Given the description of an element on the screen output the (x, y) to click on. 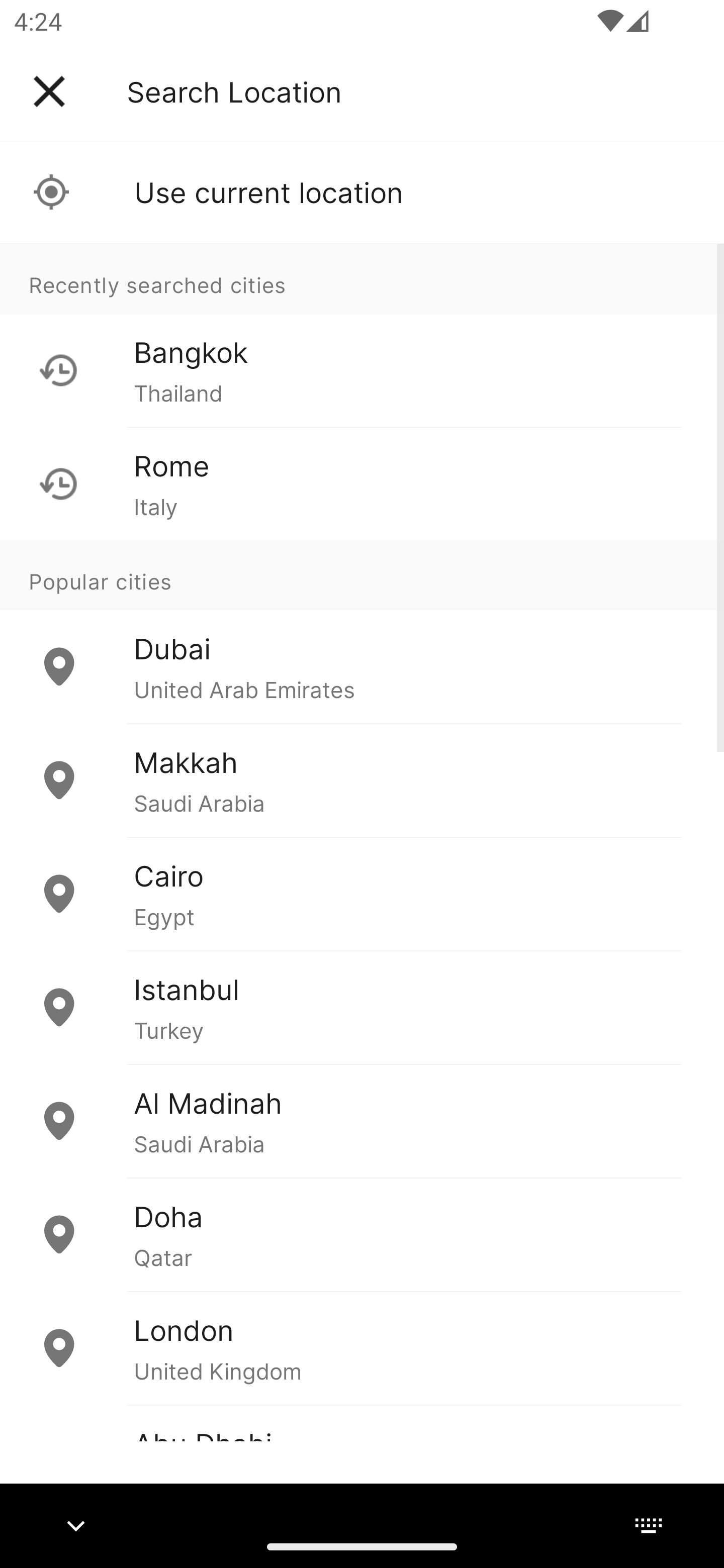
Search Location (234, 91)
Use current location (362, 192)
Recently searched cities Bangkok Thailand (362, 334)
Recently searched cities (362, 278)
Rome Italy (362, 483)
Popular cities Dubai United Arab Emirates (362, 631)
Popular cities (362, 574)
Makkah Saudi Arabia (362, 779)
Cairo Egypt (362, 893)
Istanbul Turkey (362, 1007)
Al Madinah Saudi Arabia (362, 1120)
Doha Qatar (362, 1233)
London United Kingdom (362, 1347)
